Given the description of an element on the screen output the (x, y) to click on. 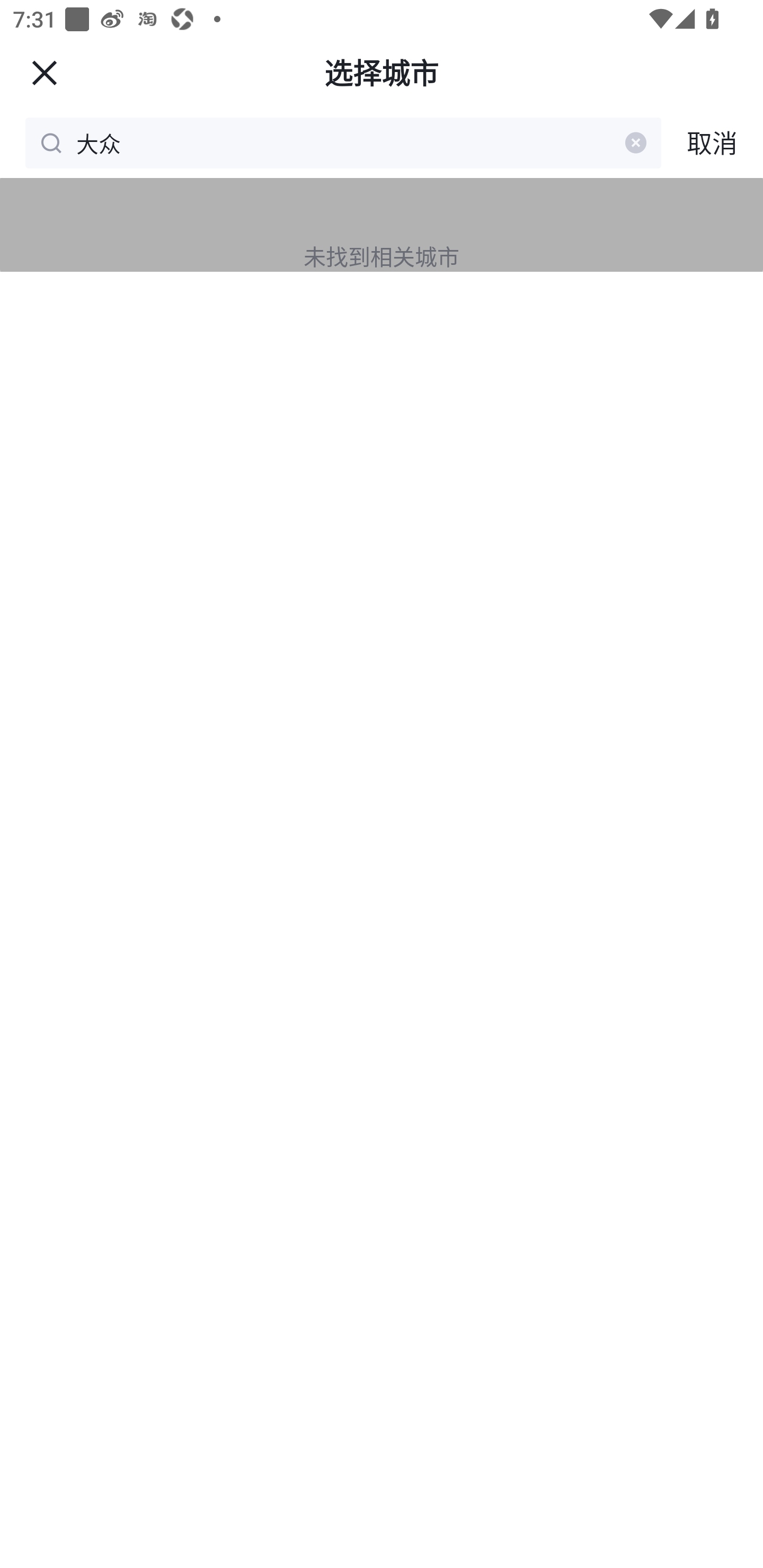
 (44, 71)
取消 (711, 142)
大众 (346, 142)
 (635, 142)
